Given the description of an element on the screen output the (x, y) to click on. 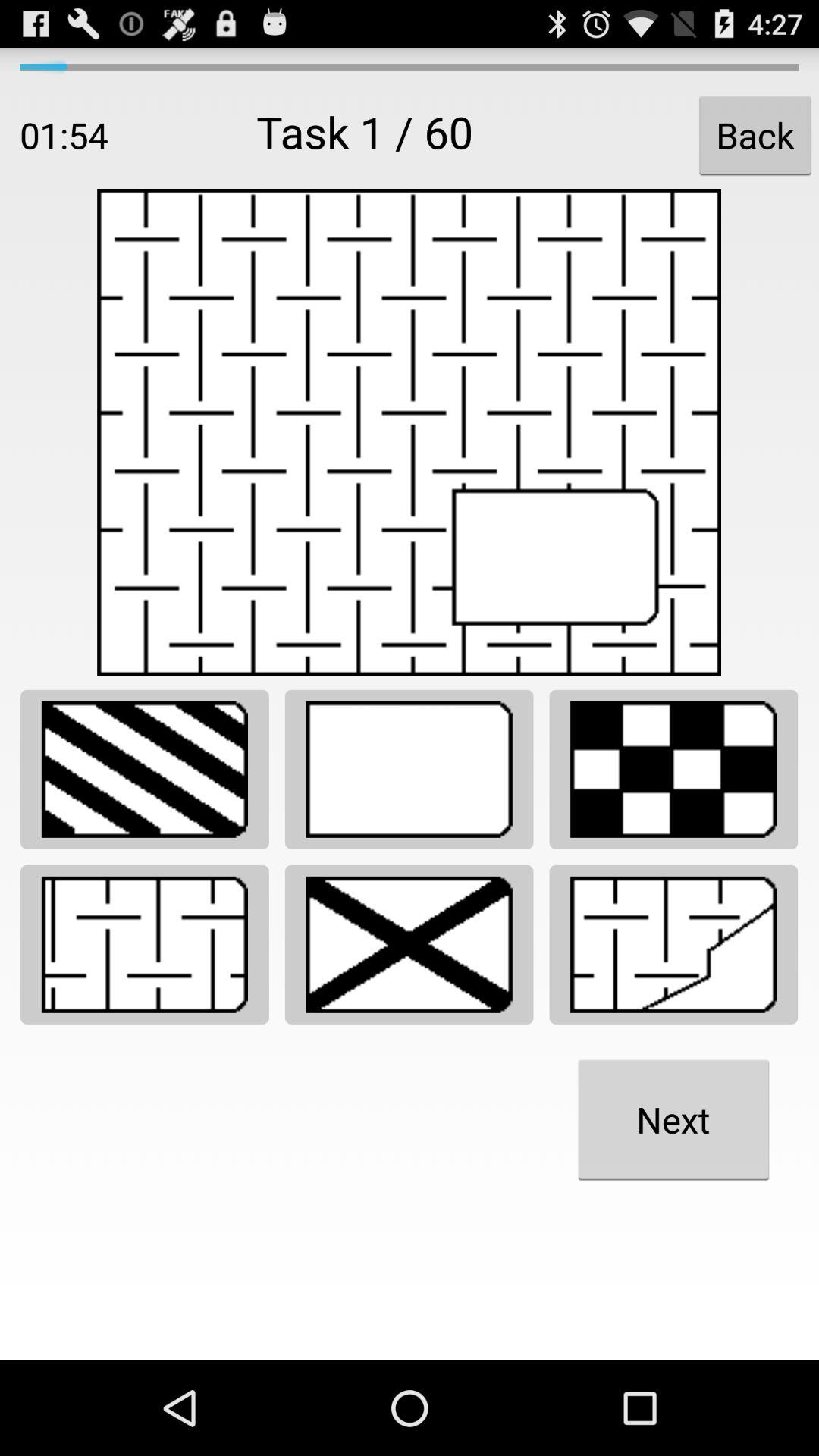
home back (673, 944)
